Given the description of an element on the screen output the (x, y) to click on. 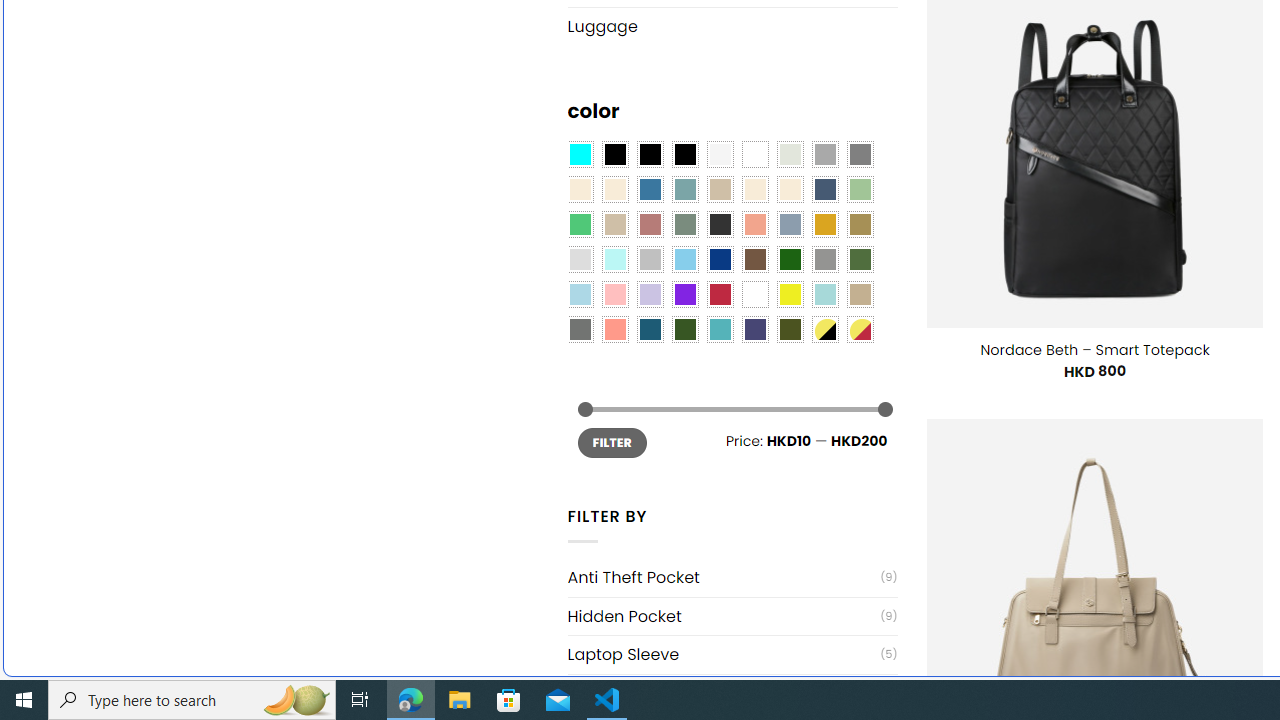
All Gray (859, 154)
Hidden Pocket (723, 615)
Purple Navy (755, 329)
White (755, 295)
Yellow-Black (824, 329)
Brownie (719, 190)
Pink (614, 295)
